Given the description of an element on the screen output the (x, y) to click on. 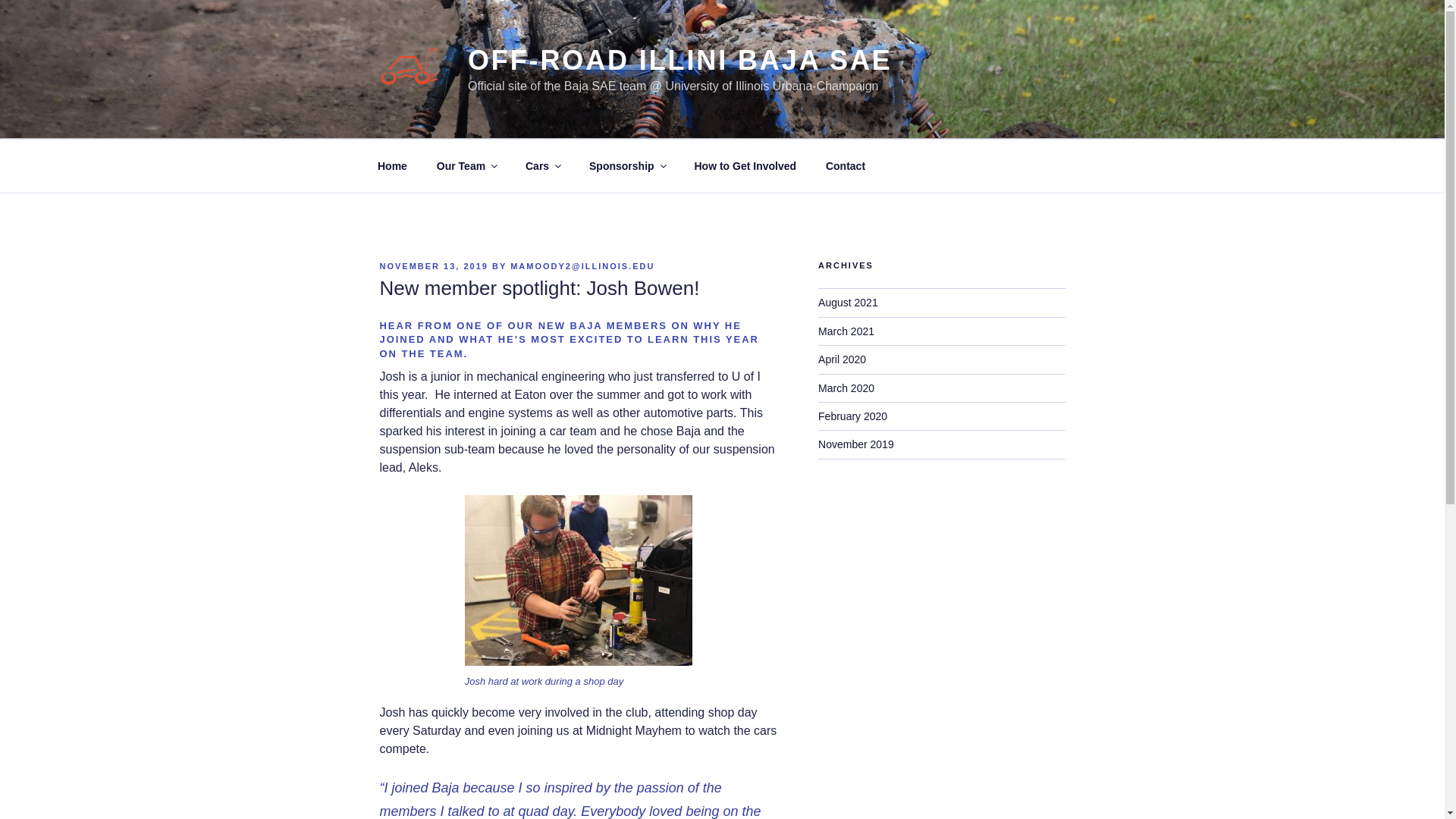
Sponsorship (627, 165)
Cars (542, 165)
OFF-ROAD ILLINI BAJA SAE (679, 60)
Contact (844, 165)
Home (392, 165)
How to Get Involved (745, 165)
Our Team (465, 165)
